Given the description of an element on the screen output the (x, y) to click on. 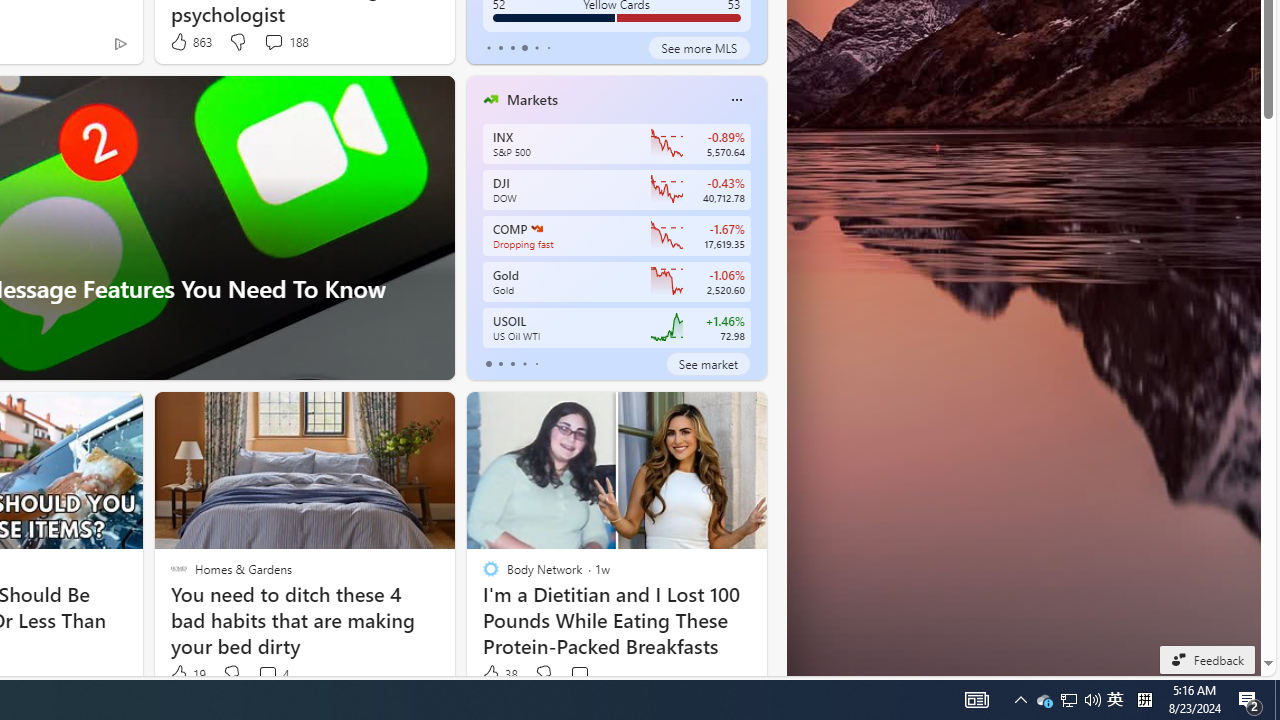
View comments 4 Comment (267, 673)
See more MLS (699, 47)
View comments 188 Comment (273, 41)
View comments 188 Comment (285, 42)
tab-3 (524, 363)
NASDAQ (535, 228)
19 Like (186, 674)
